Given the description of an element on the screen output the (x, y) to click on. 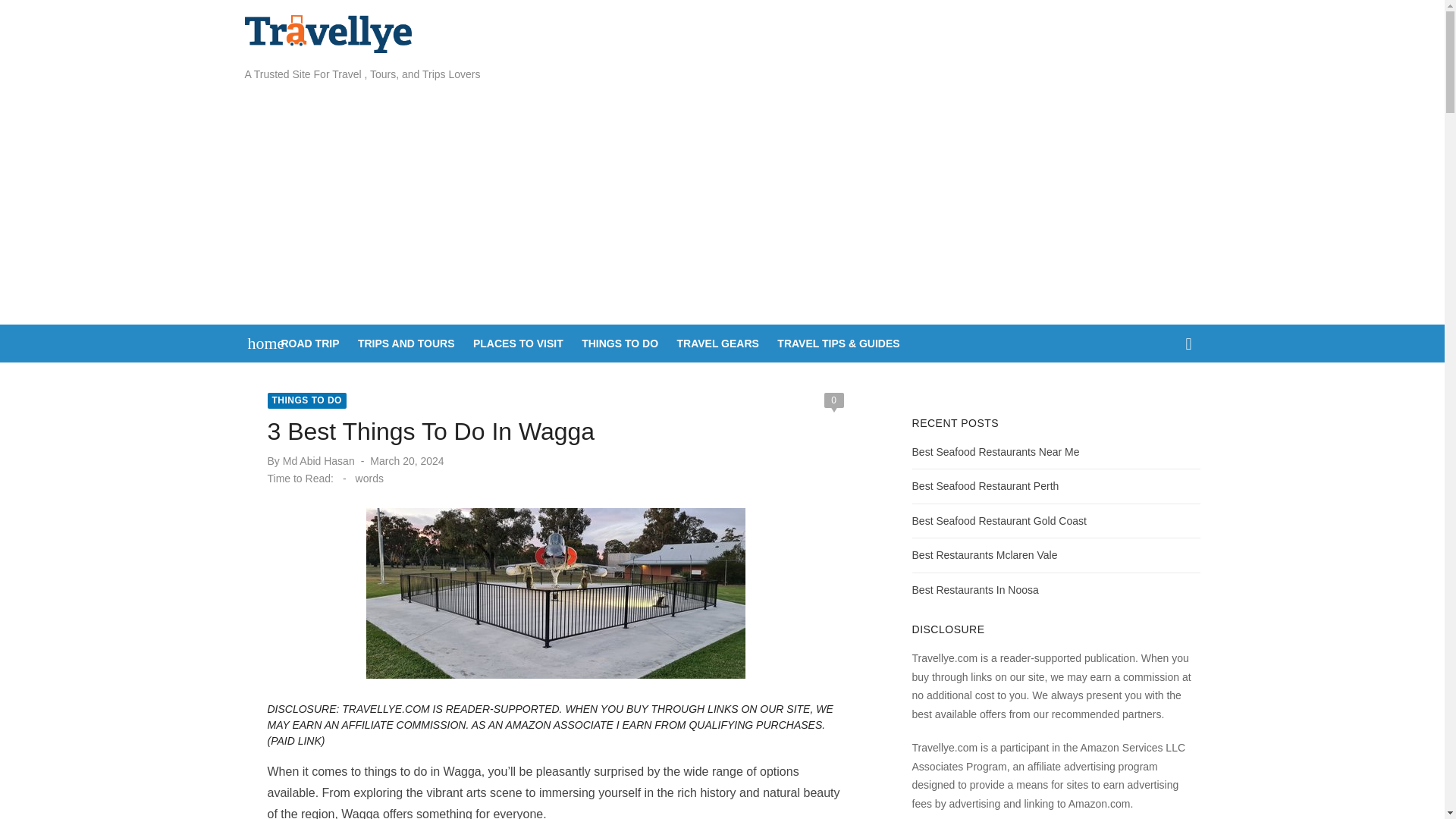
home (258, 343)
Best Seafood Restaurant Perth (985, 485)
THINGS TO DO (306, 400)
THINGS TO DO (619, 343)
TRIPS AND TOURS (406, 343)
0 (833, 400)
TRAVEL GEARS (717, 343)
PLACES TO VISIT (518, 343)
March 20, 2024 (406, 460)
Best Seafood Restaurants Near Me (996, 451)
Md Abid Hasan (318, 460)
ROAD TRIP (310, 343)
